Given the description of an element on the screen output the (x, y) to click on. 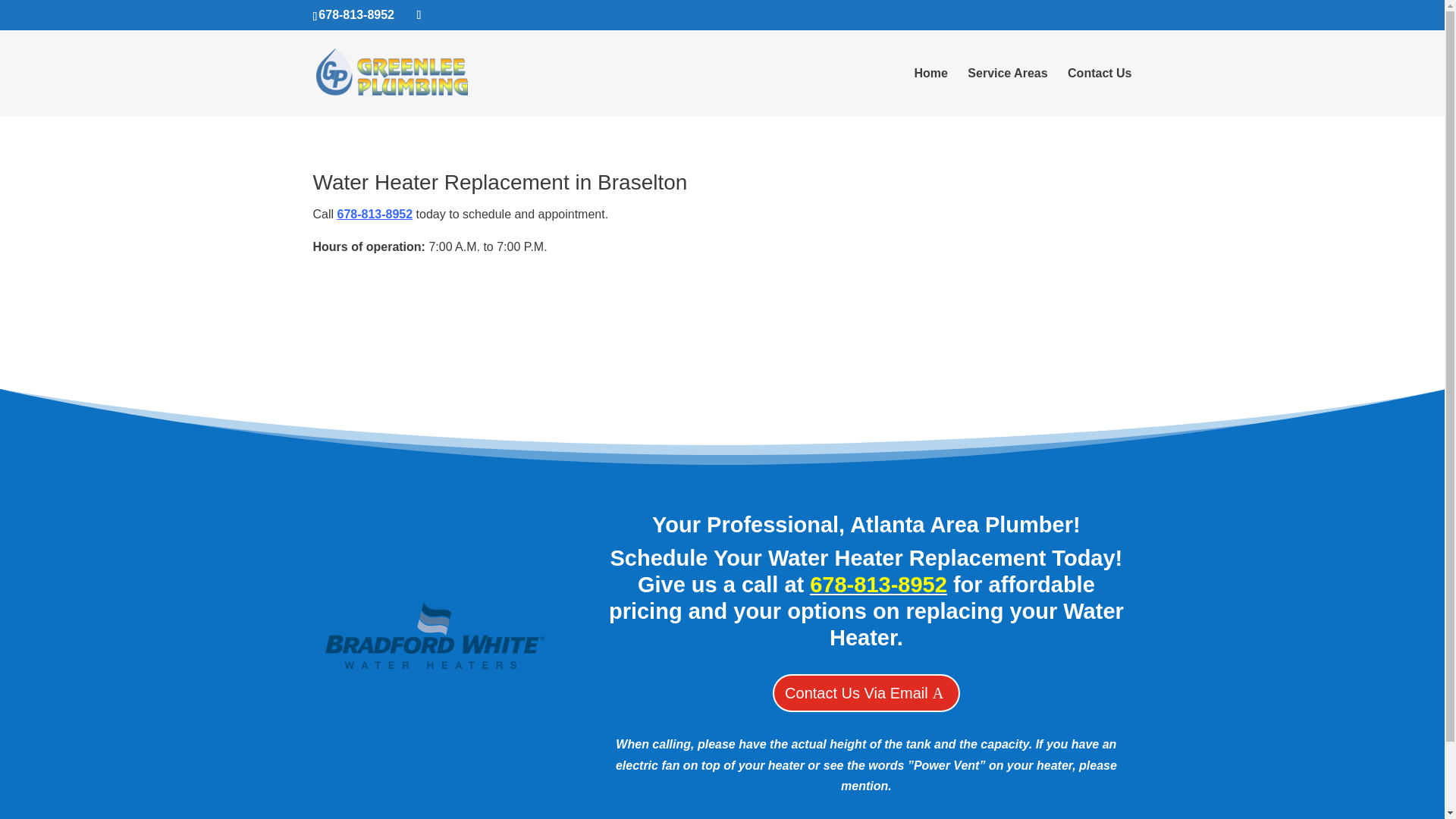
678-813-8952 (878, 584)
678-813-8952 (356, 14)
Contact Us Via Email (866, 692)
Service Areas (1007, 91)
Contact Us (1099, 91)
